Given the description of an element on the screen output the (x, y) to click on. 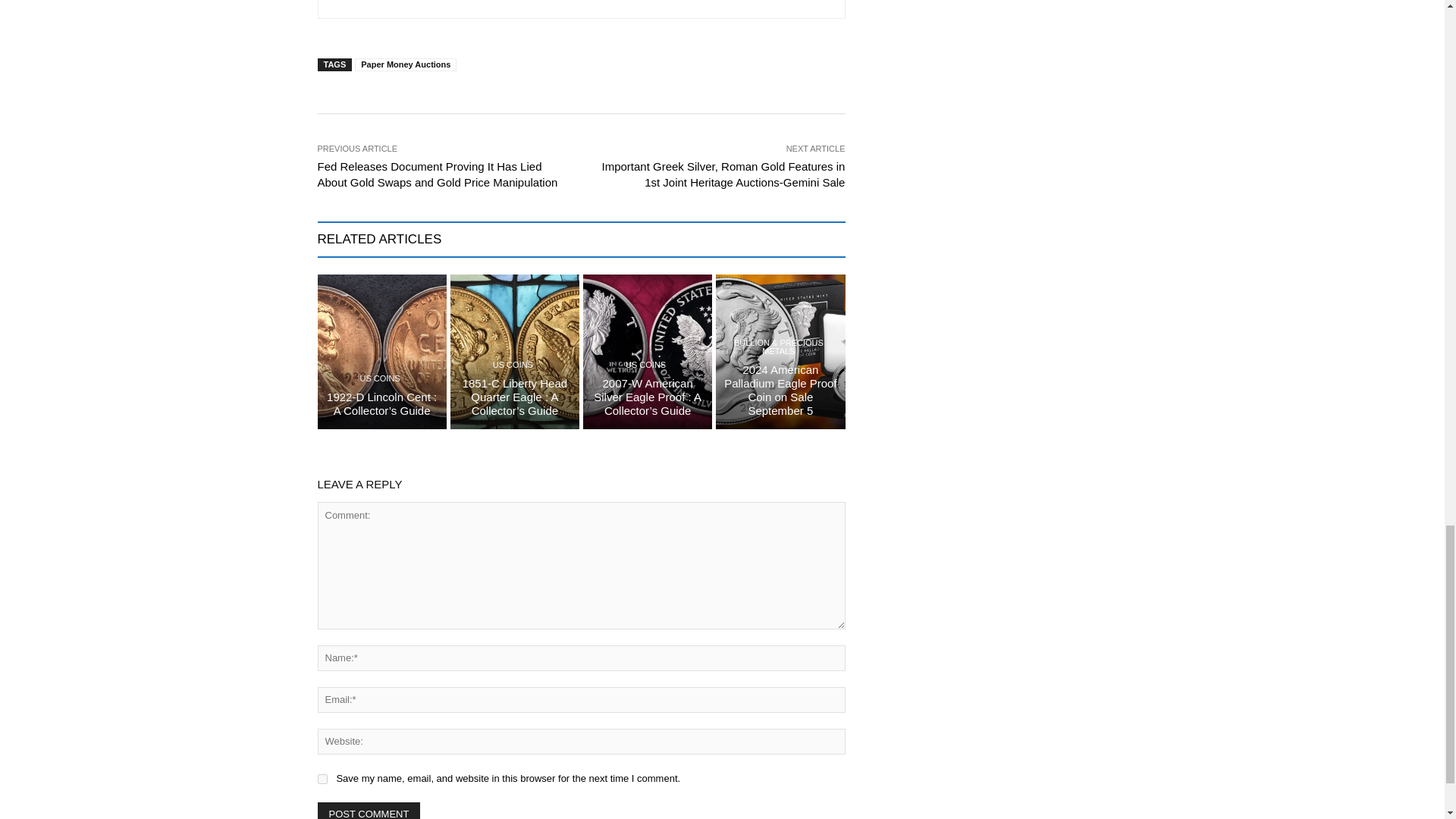
2024 American Palladium Eagle Proof Coin on Sale September 5 (779, 389)
Post Comment (368, 810)
Heritage Auctions (369, 1)
yes (321, 778)
